Given the description of an element on the screen output the (x, y) to click on. 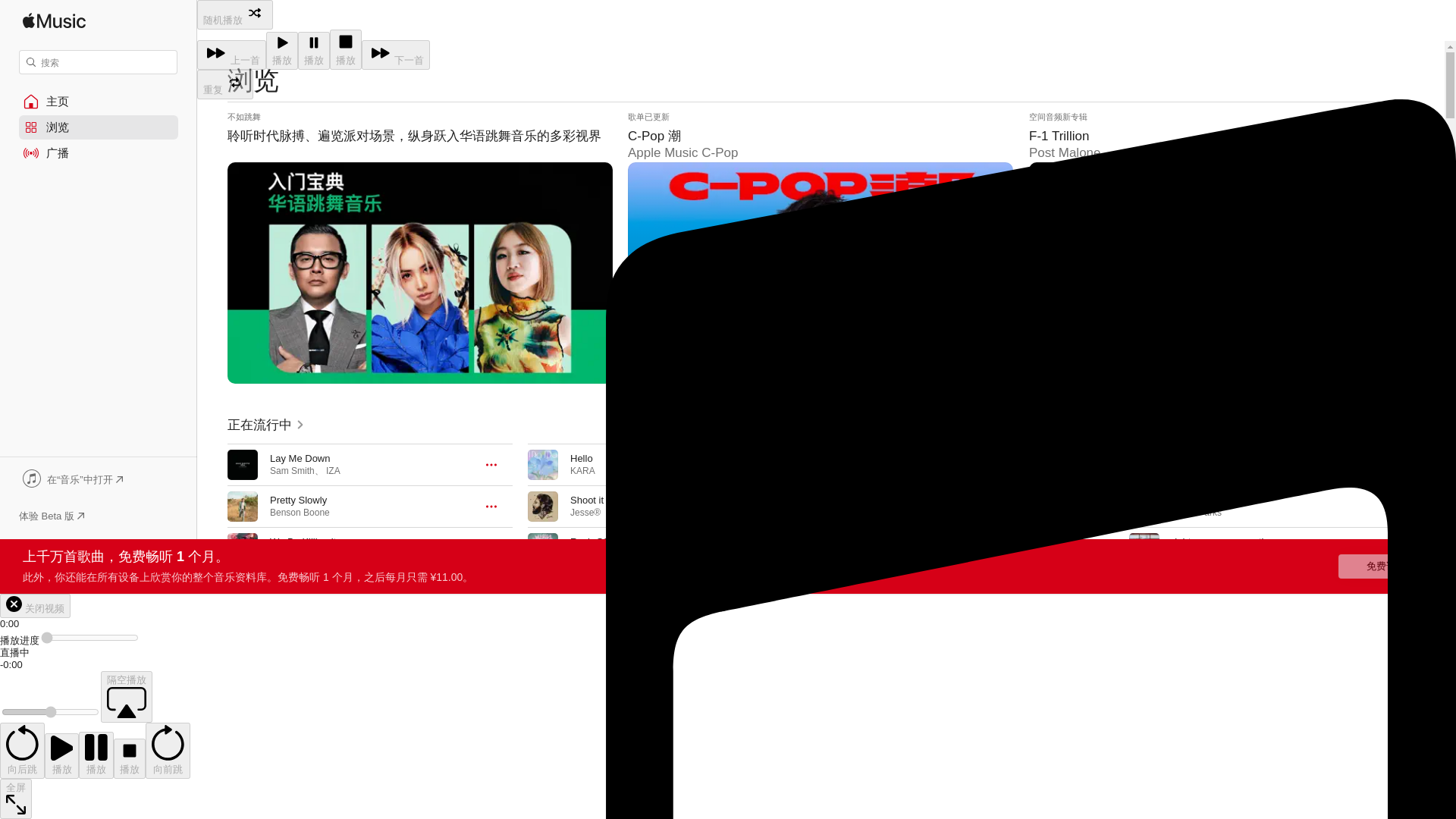
We Be Killing it (302, 541)
Benson Boone (299, 511)
F-1 Trillion (1221, 247)
Lay Me Down (299, 458)
Sam Smith (291, 470)
CHAII (281, 553)
Pale Waves (293, 595)
Pretty Slowly (297, 500)
IZA (333, 470)
Gravity (285, 583)
